Given the description of an element on the screen output the (x, y) to click on. 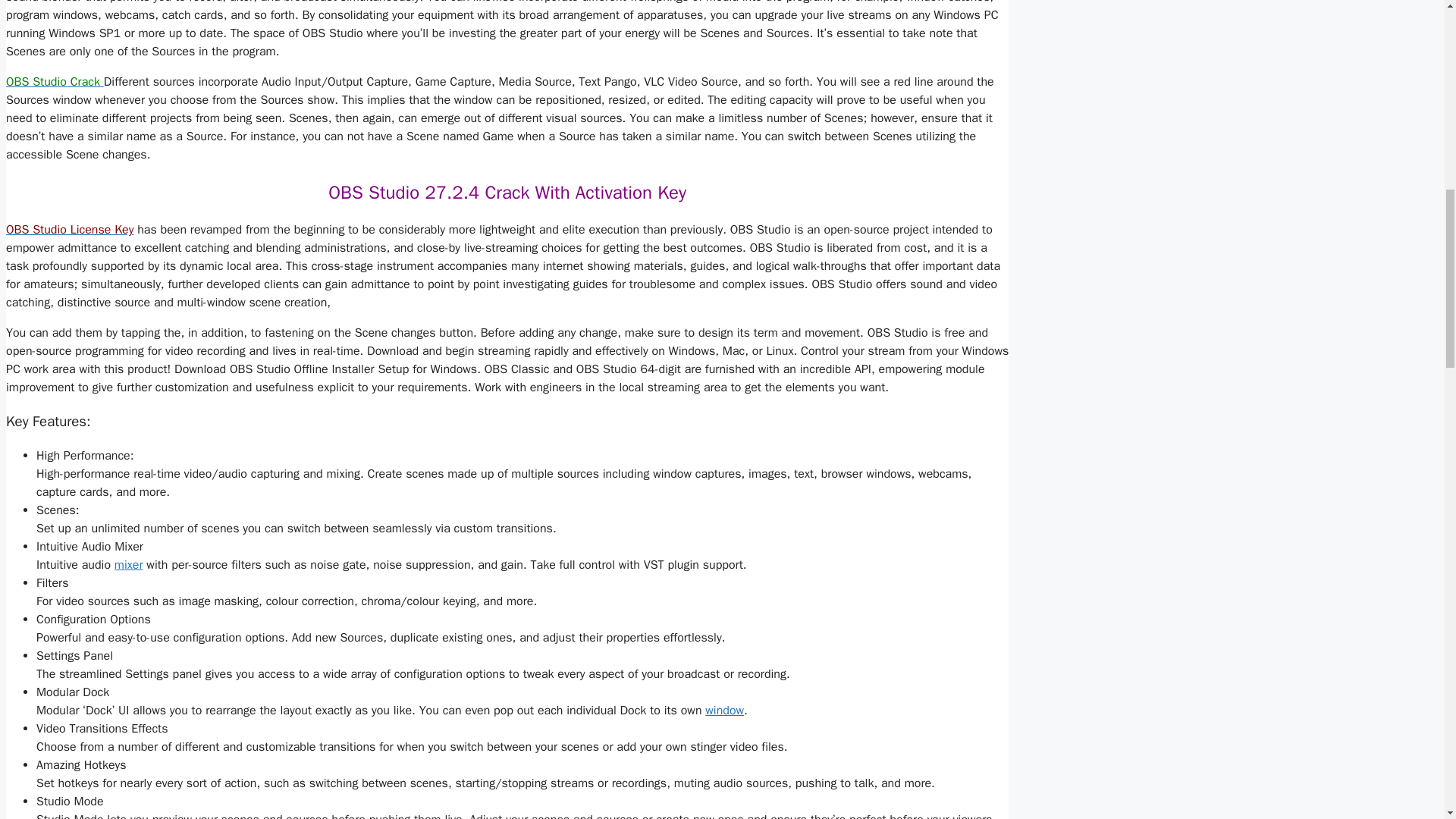
mixer (128, 564)
OBS Studio Crack (54, 81)
OBS Studio License Key (69, 229)
window (724, 710)
